Given the description of an element on the screen output the (x, y) to click on. 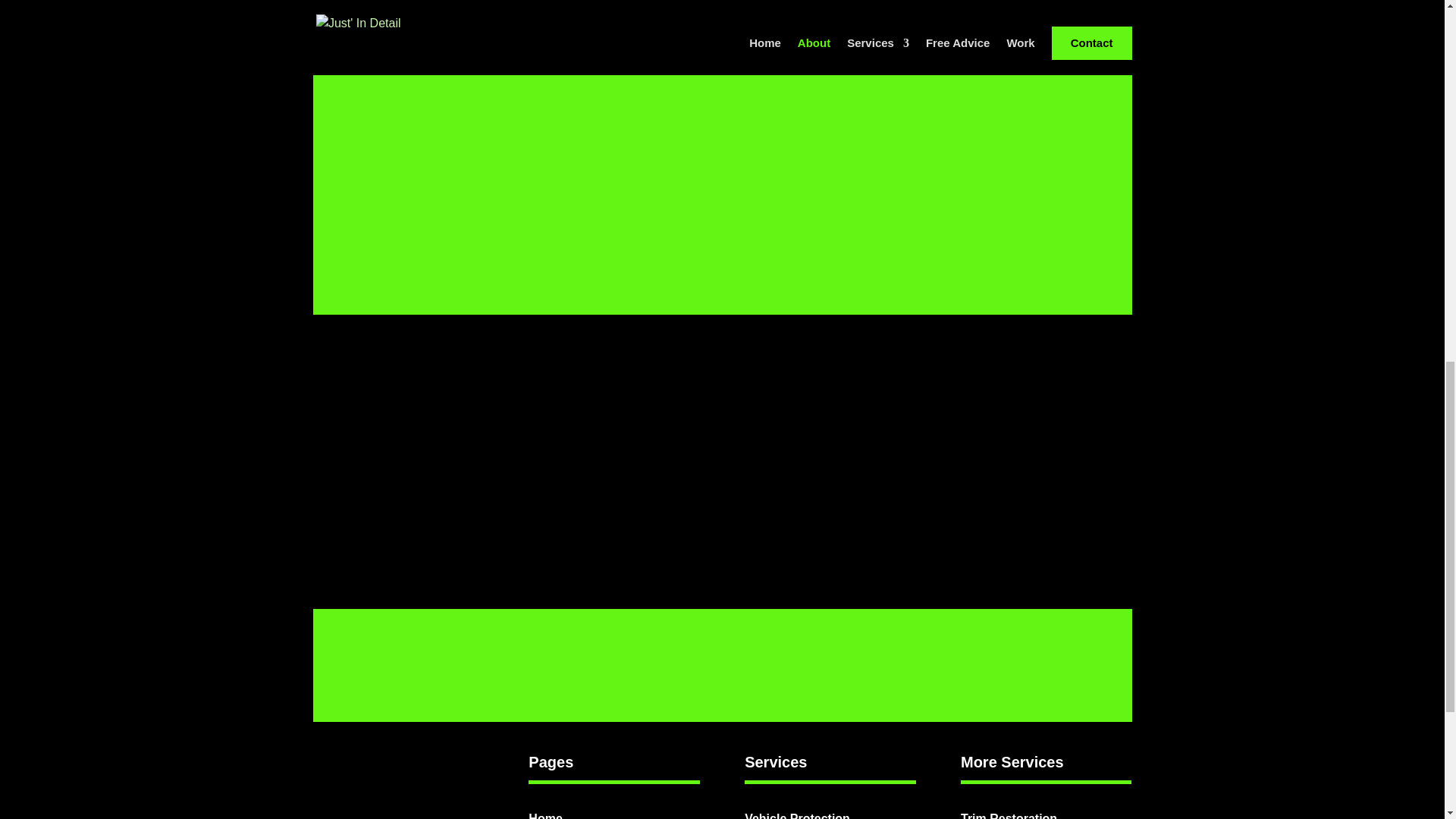
Trim Restoration (1008, 815)
1F3B302F-FA0A-4663-B67F-83F1AEDA24B7 (914, 152)
Home (545, 815)
Vehicle Protection (797, 815)
